Given the description of an element on the screen output the (x, y) to click on. 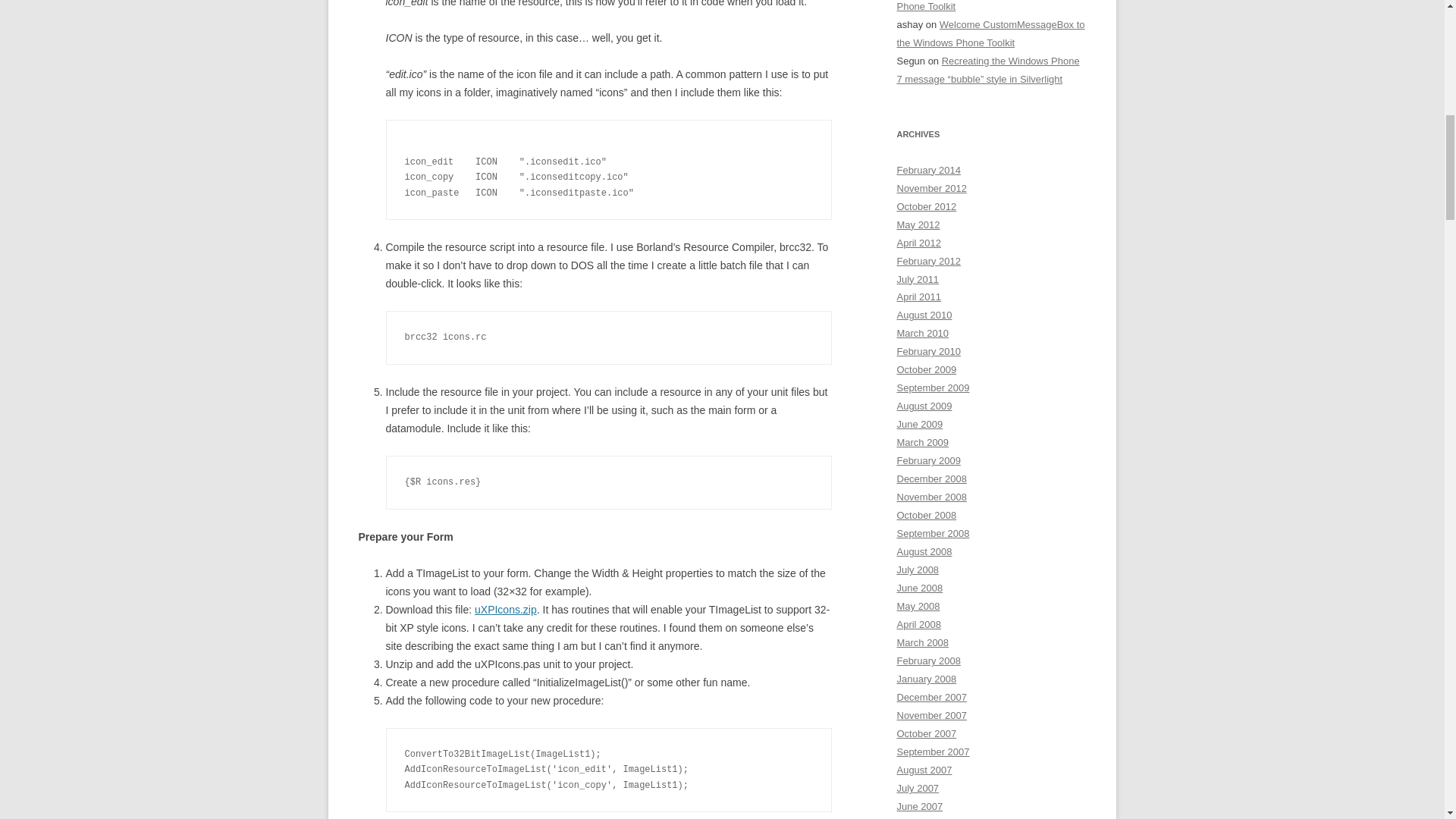
uXPIcons.zip (505, 609)
